Given the description of an element on the screen output the (x, y) to click on. 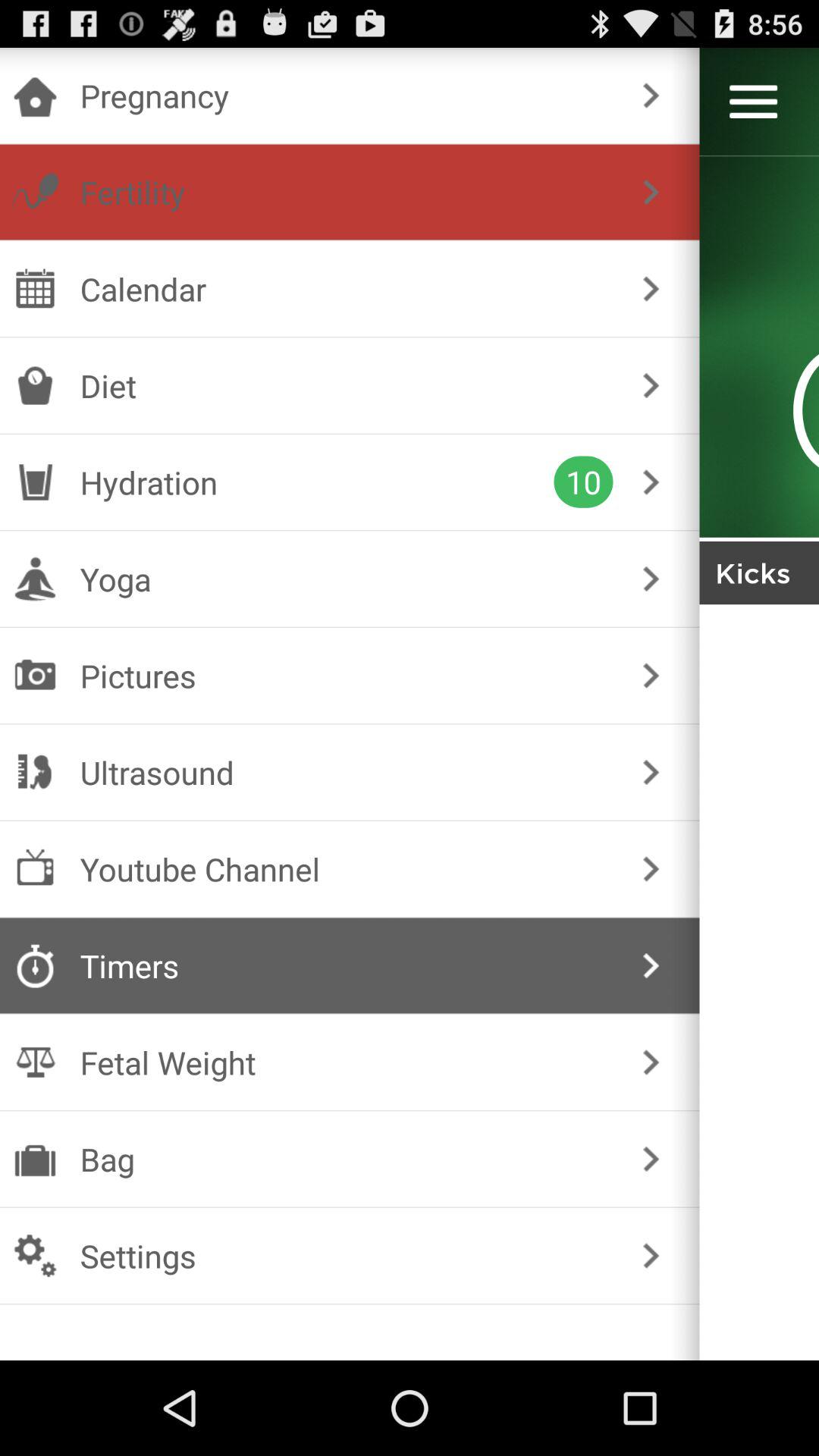
select the app next to the 10 (316, 481)
